Given the description of an element on the screen output the (x, y) to click on. 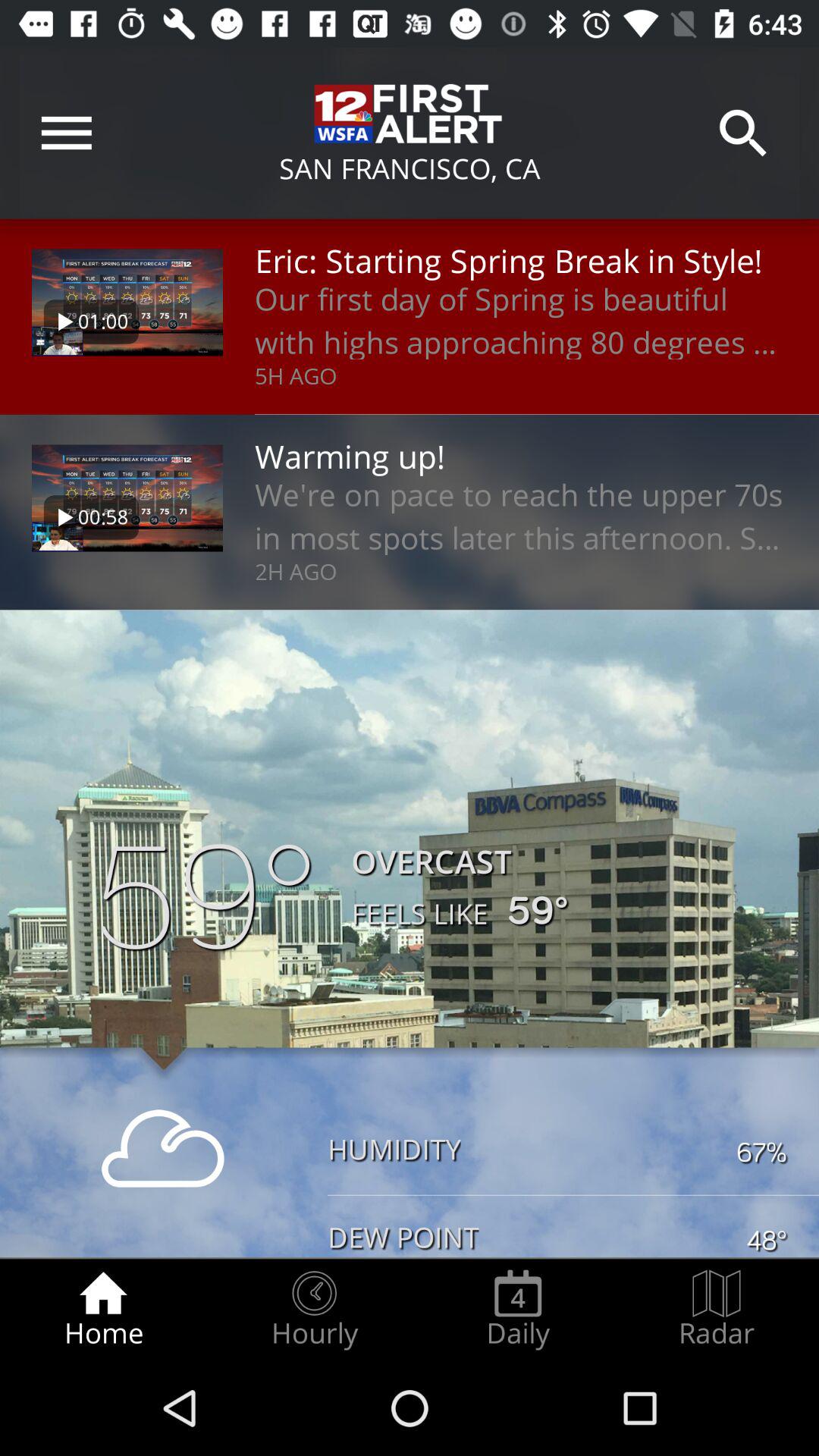
click item to the right of hourly radio button (518, 1309)
